Given the description of an element on the screen output the (x, y) to click on. 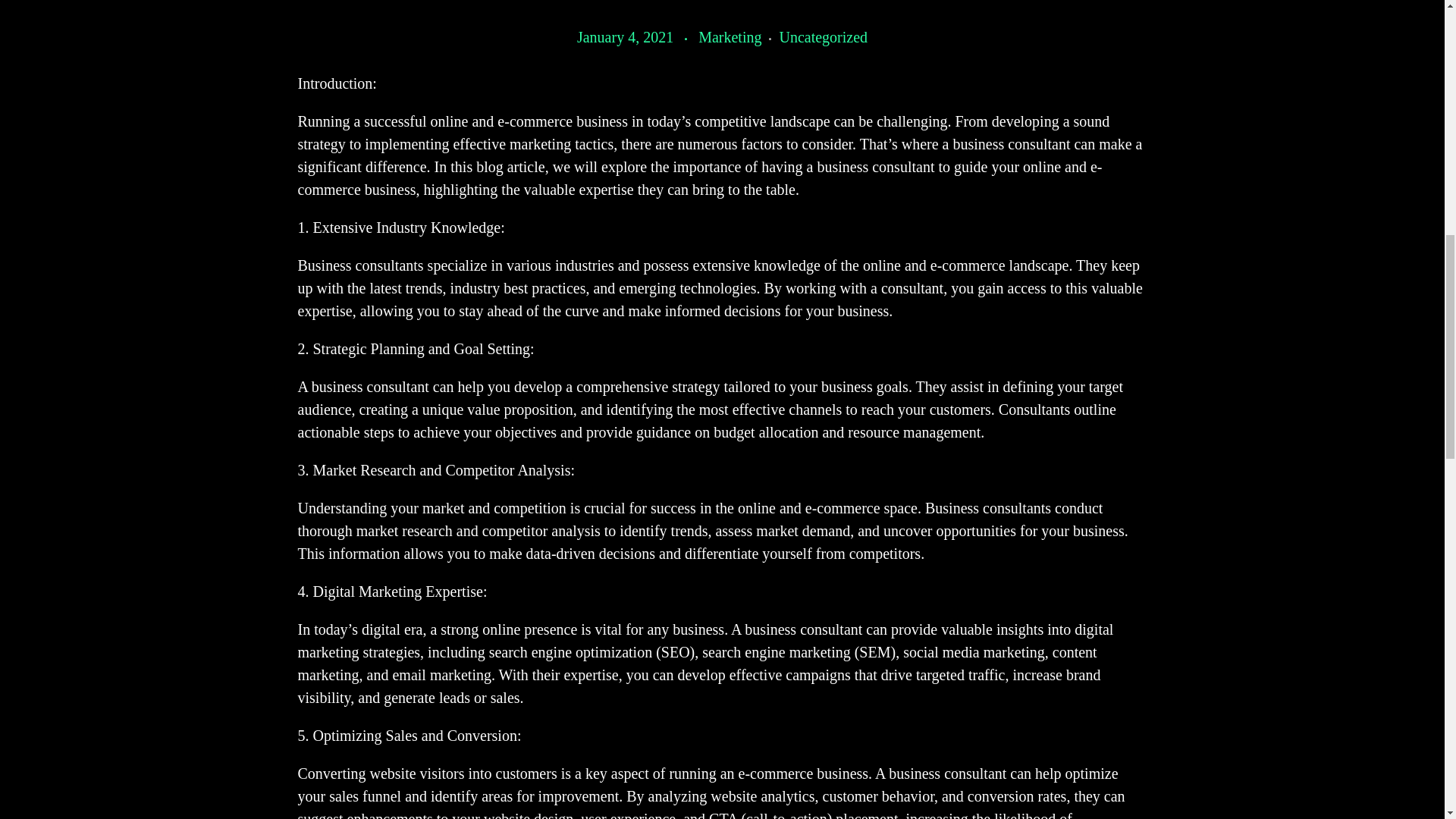
View all posts in Uncategorized (822, 36)
Marketing (738, 36)
Uncategorized (822, 36)
View all posts in Marketing (738, 36)
